Given the description of an element on the screen output the (x, y) to click on. 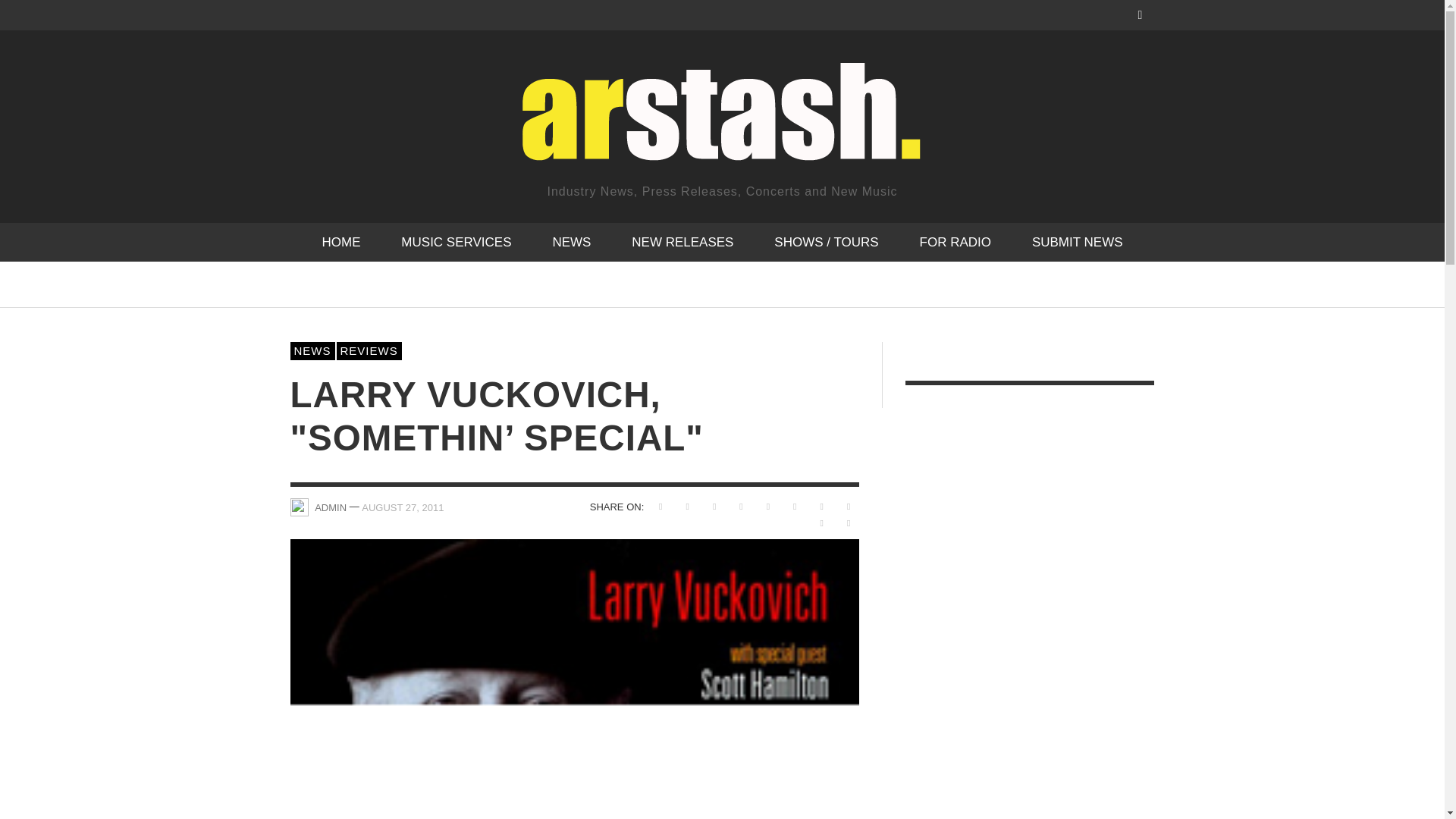
NEWS (571, 241)
MUSIC SERVICES (455, 241)
SUBMIT NEWS (1077, 241)
FOR RADIO (955, 241)
NEW RELEASES (682, 241)
HOME (340, 241)
Industry News, Press Releases, Concerts and New Music (721, 126)
